Given the description of an element on the screen output the (x, y) to click on. 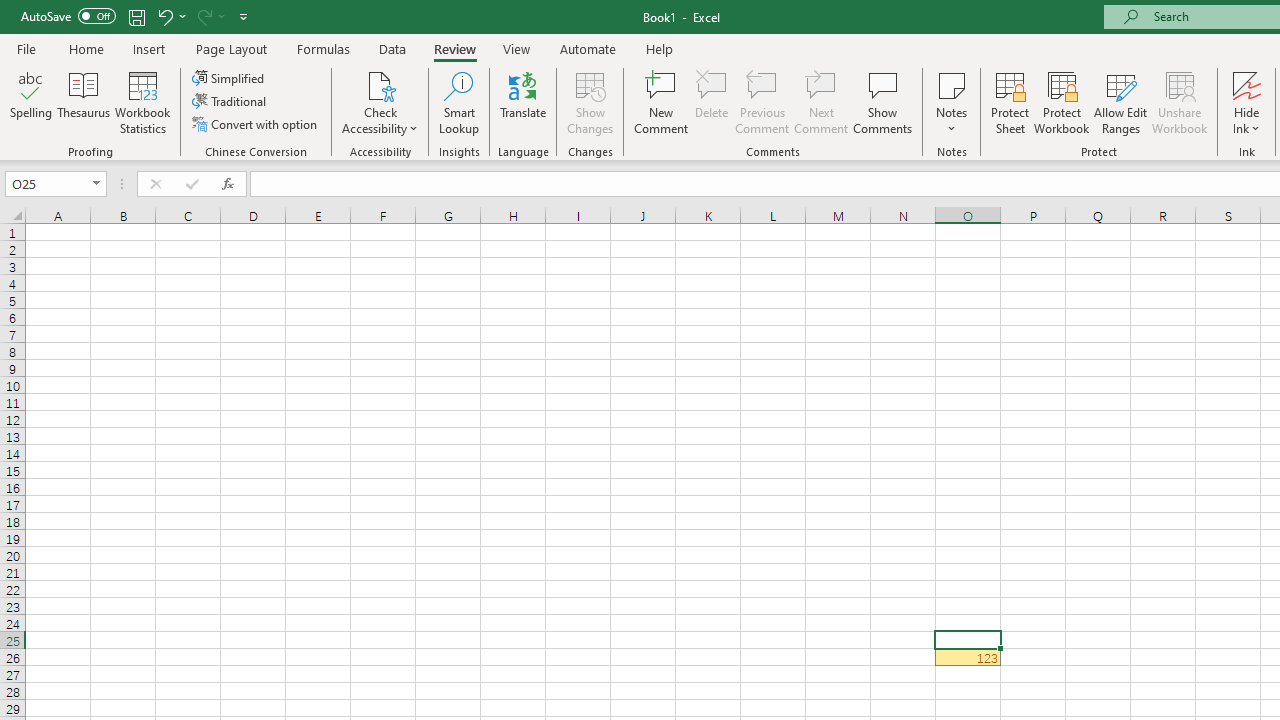
Unshare Workbook (1179, 102)
New Comment (661, 102)
Next Comment (821, 102)
Convert with option (256, 124)
Show Changes (589, 102)
Traditional (230, 101)
Allow Edit Ranges (1120, 102)
Smart Lookup (459, 102)
